Given the description of an element on the screen output the (x, y) to click on. 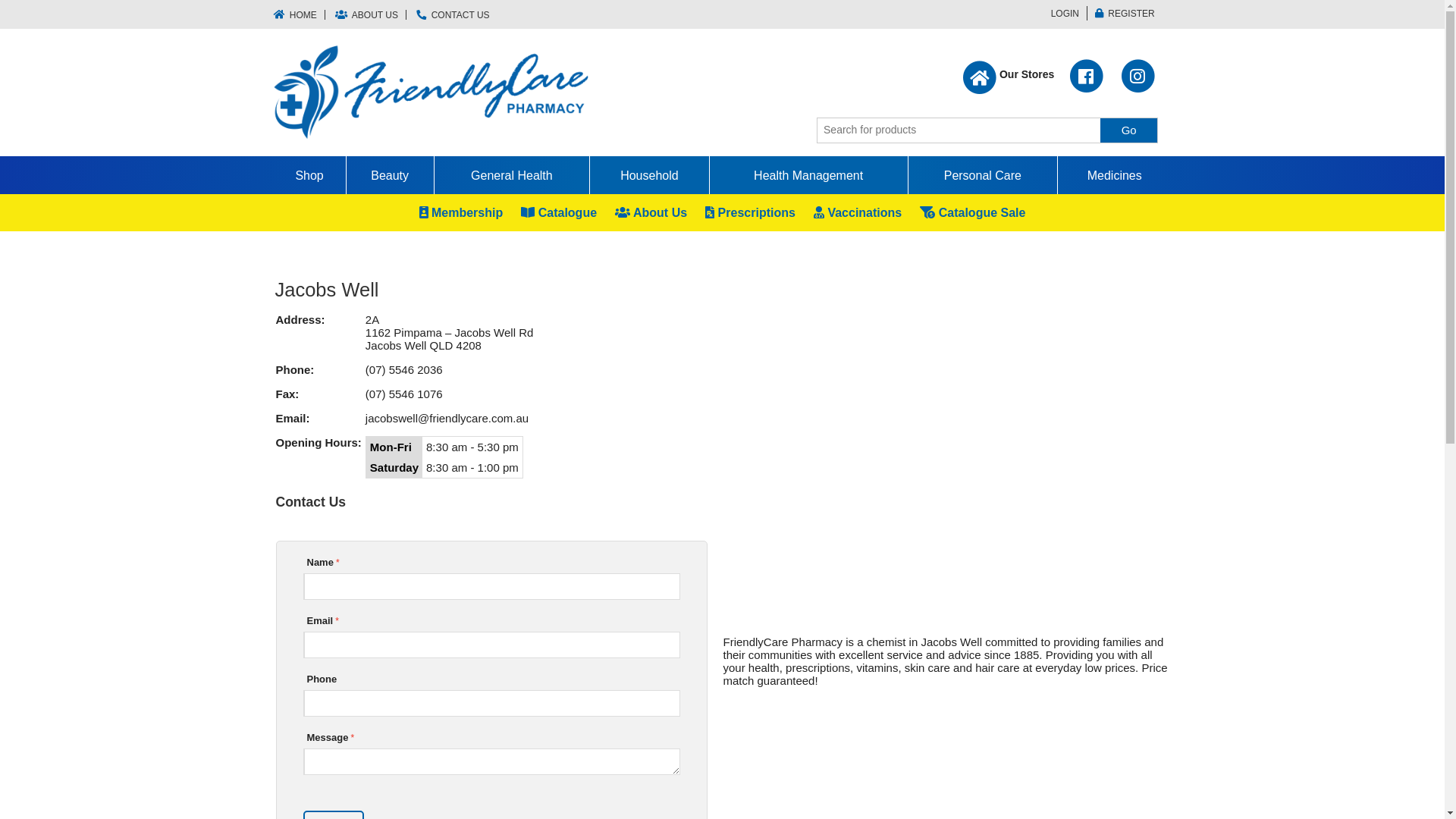
Go Element type: text (1128, 130)
Vaccinations Element type: text (857, 212)
Catalogue Sale Element type: text (972, 212)
CONTACT US Element type: text (452, 14)
Household Element type: text (648, 175)
Medicines Element type: text (1113, 175)
LOGIN Element type: text (1062, 13)
Membership Element type: text (460, 212)
Catalogue Element type: text (558, 212)
Our Stores Element type: text (1008, 79)
HOME Element type: text (298, 14)
Beauty Element type: text (389, 175)
About Us Element type: text (651, 212)
Health Management Element type: text (808, 175)
Shop Element type: text (309, 175)
Prescriptions Element type: text (750, 212)
REGISTER Element type: text (1124, 13)
ABOUT US Element type: text (366, 14)
Personal Care Element type: text (982, 175)
General Health Element type: text (511, 175)
(07) 5546 2036 Element type: text (403, 369)
